Given the description of an element on the screen output the (x, y) to click on. 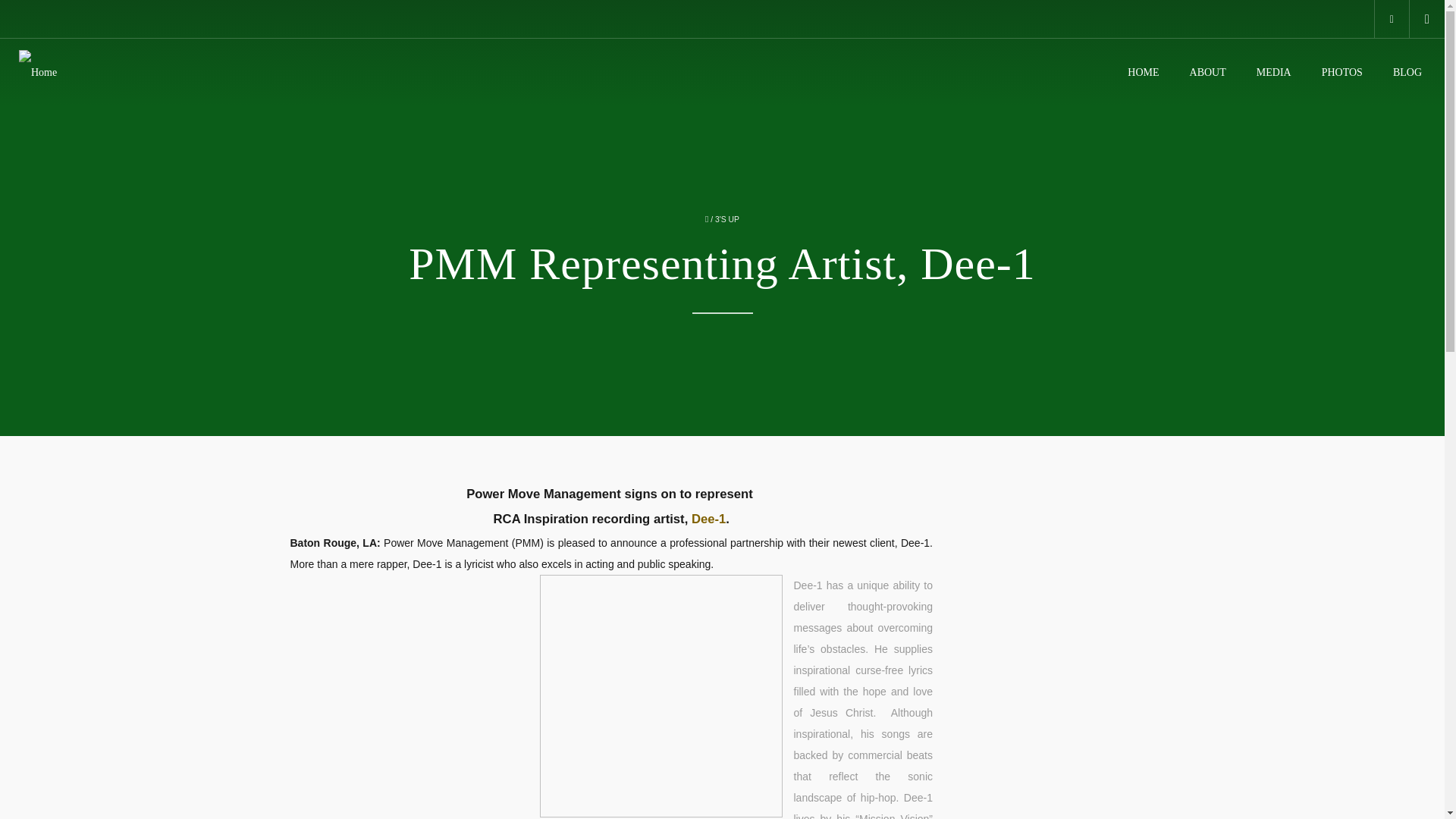
ABOUT (1203, 72)
MEDIA (1270, 72)
PHOTOS (1338, 72)
3'S UP (726, 219)
HOME (1139, 72)
Map (1391, 18)
